Given the description of an element on the screen output the (x, y) to click on. 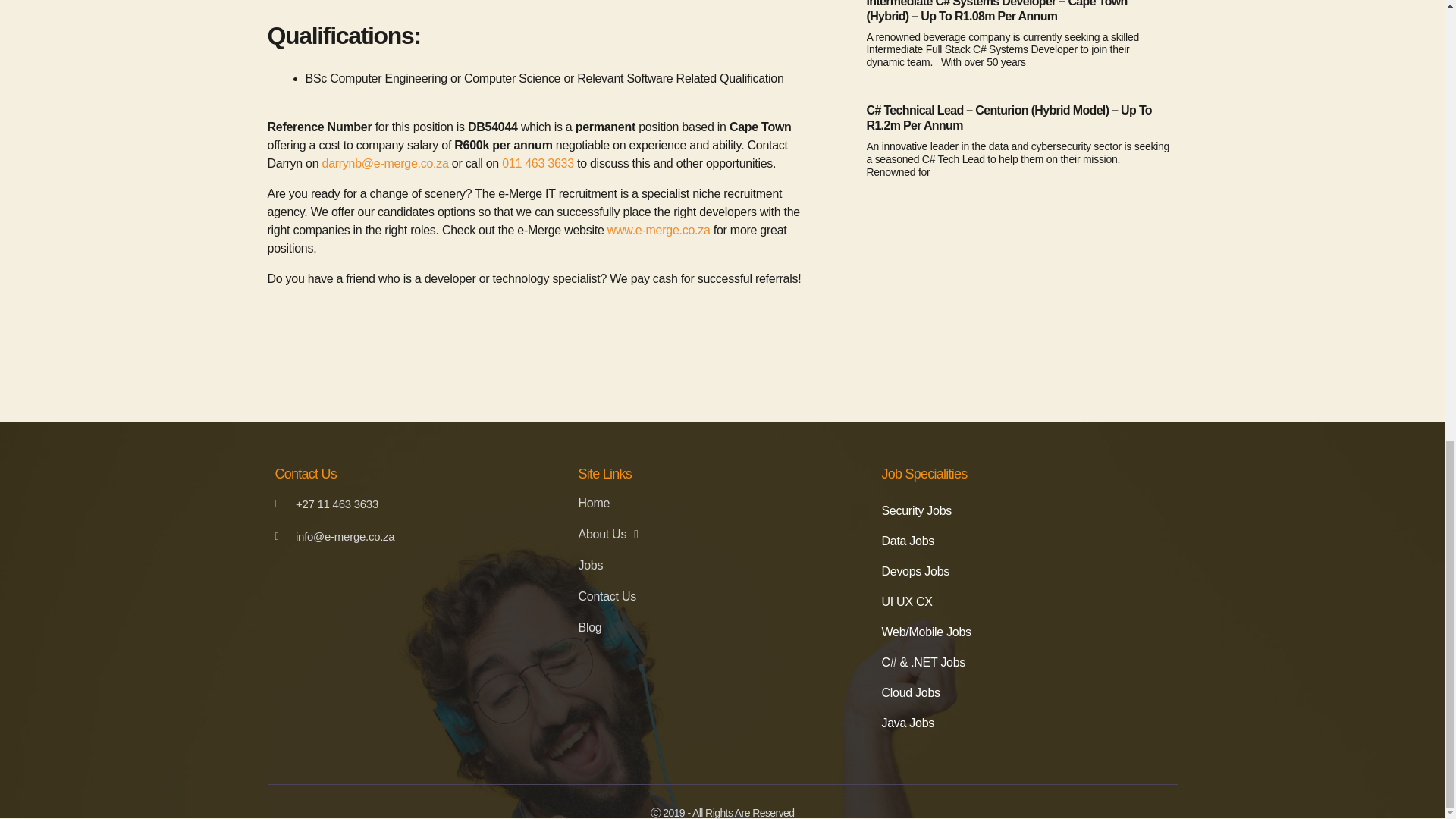
About Us (722, 534)
Home (722, 503)
Contact Us (722, 596)
www.e-merge.co.za (658, 229)
Jobs (722, 565)
011 463 3633 (536, 163)
Blog (722, 627)
